Given the description of an element on the screen output the (x, y) to click on. 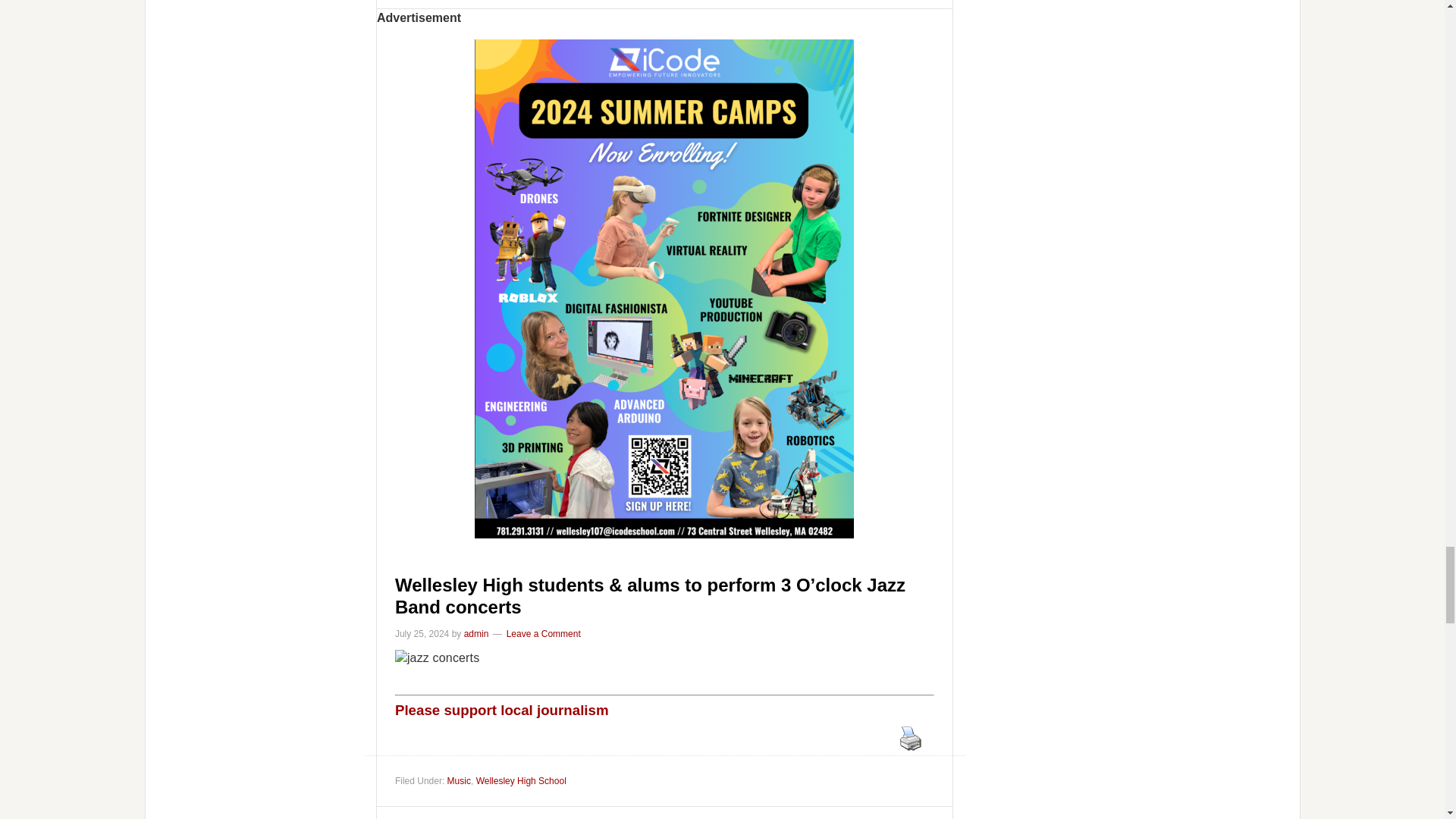
Print Content (910, 738)
